Given the description of an element on the screen output the (x, y) to click on. 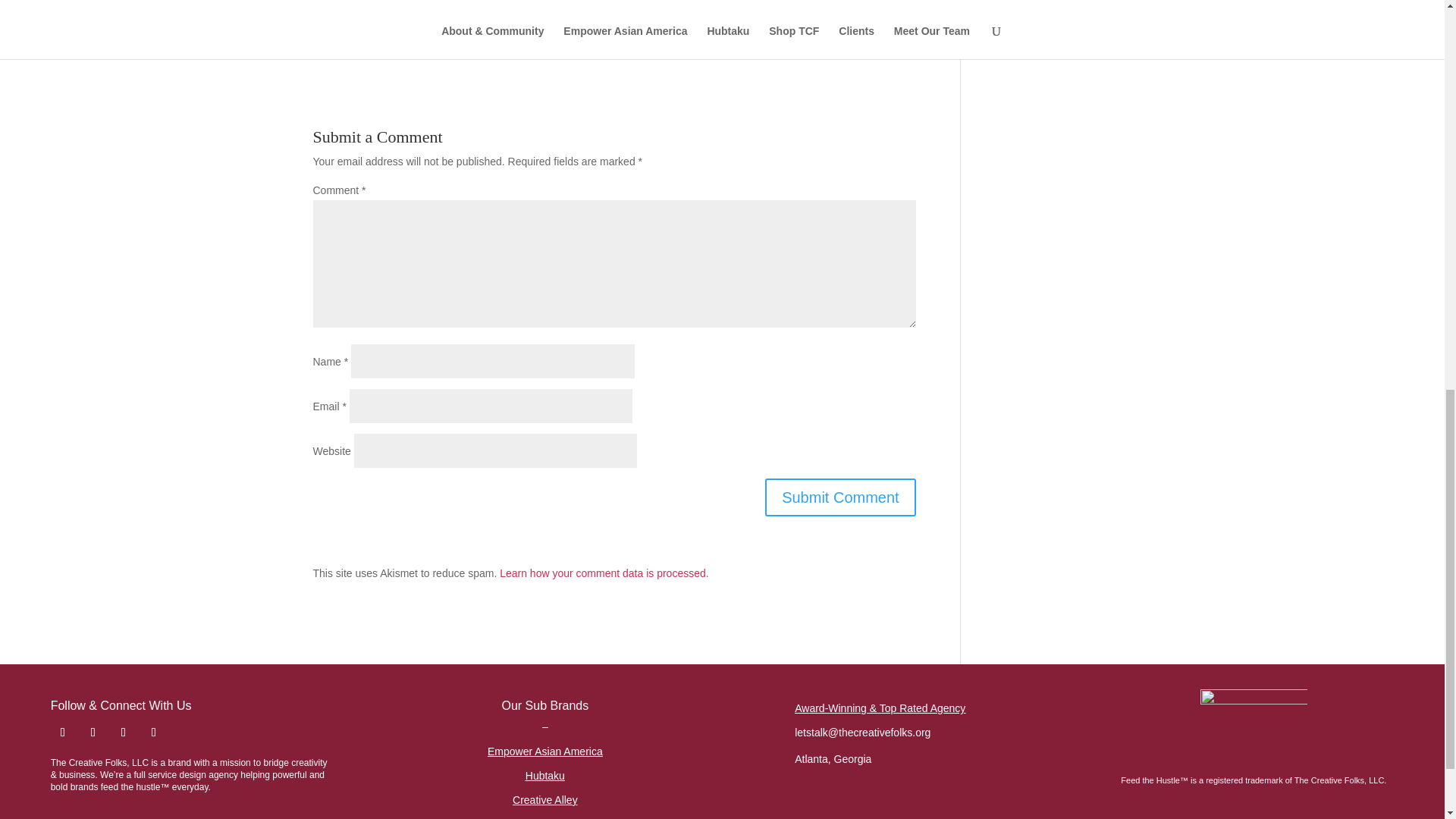
FTH Round Script (1253, 725)
Follow on Instagram (62, 732)
Follow on Youtube (153, 732)
Learn how your comment data is processed (602, 573)
Submit Comment (840, 497)
Follow on LinkedIn (123, 732)
Hubtaku (544, 775)
Empower Asian America (544, 751)
Creative Alley (545, 799)
Follow on TikTok (92, 732)
Submit Comment (840, 497)
